Given the description of an element on the screen output the (x, y) to click on. 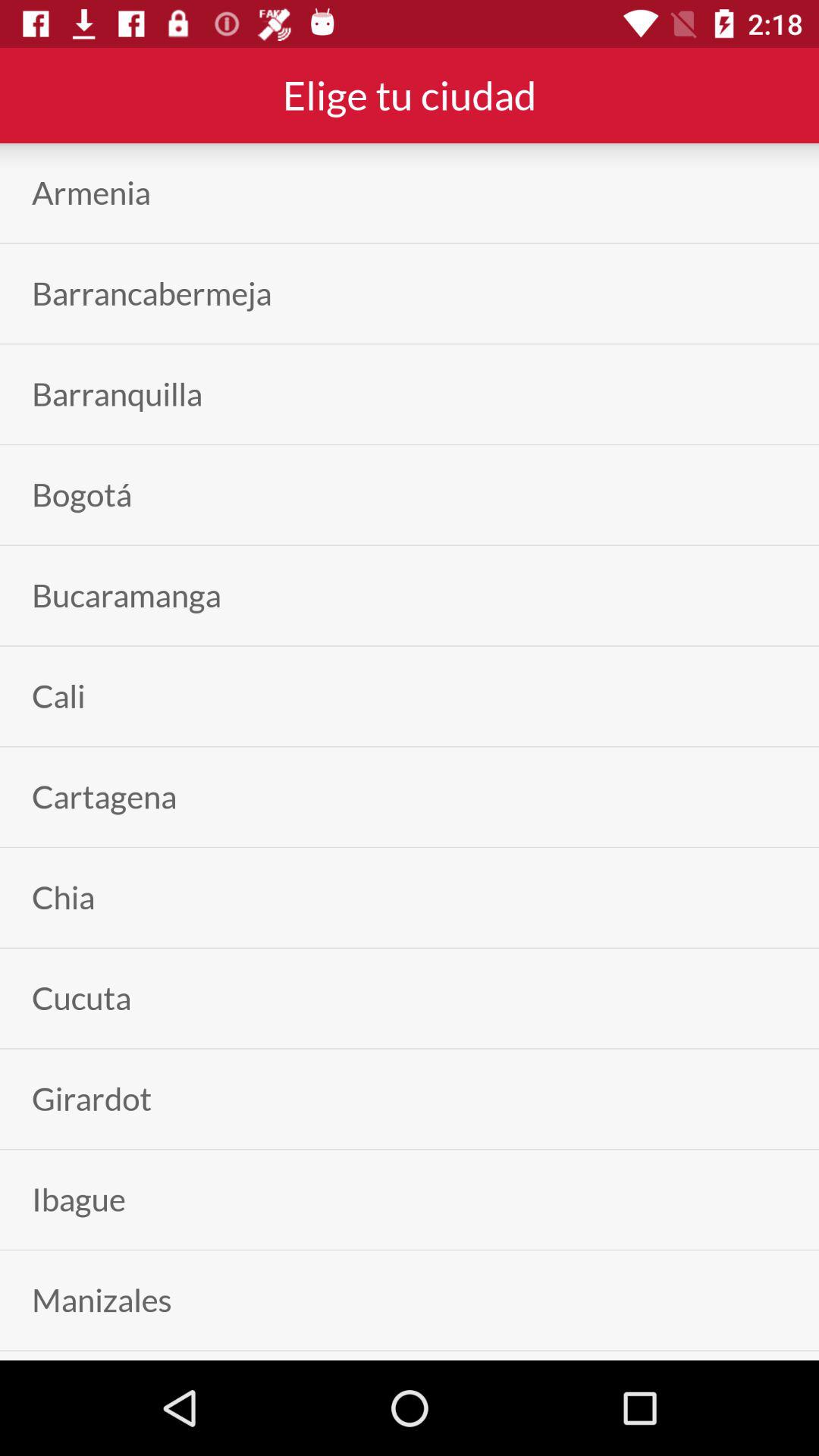
press the app below barranquilla (81, 495)
